Given the description of an element on the screen output the (x, y) to click on. 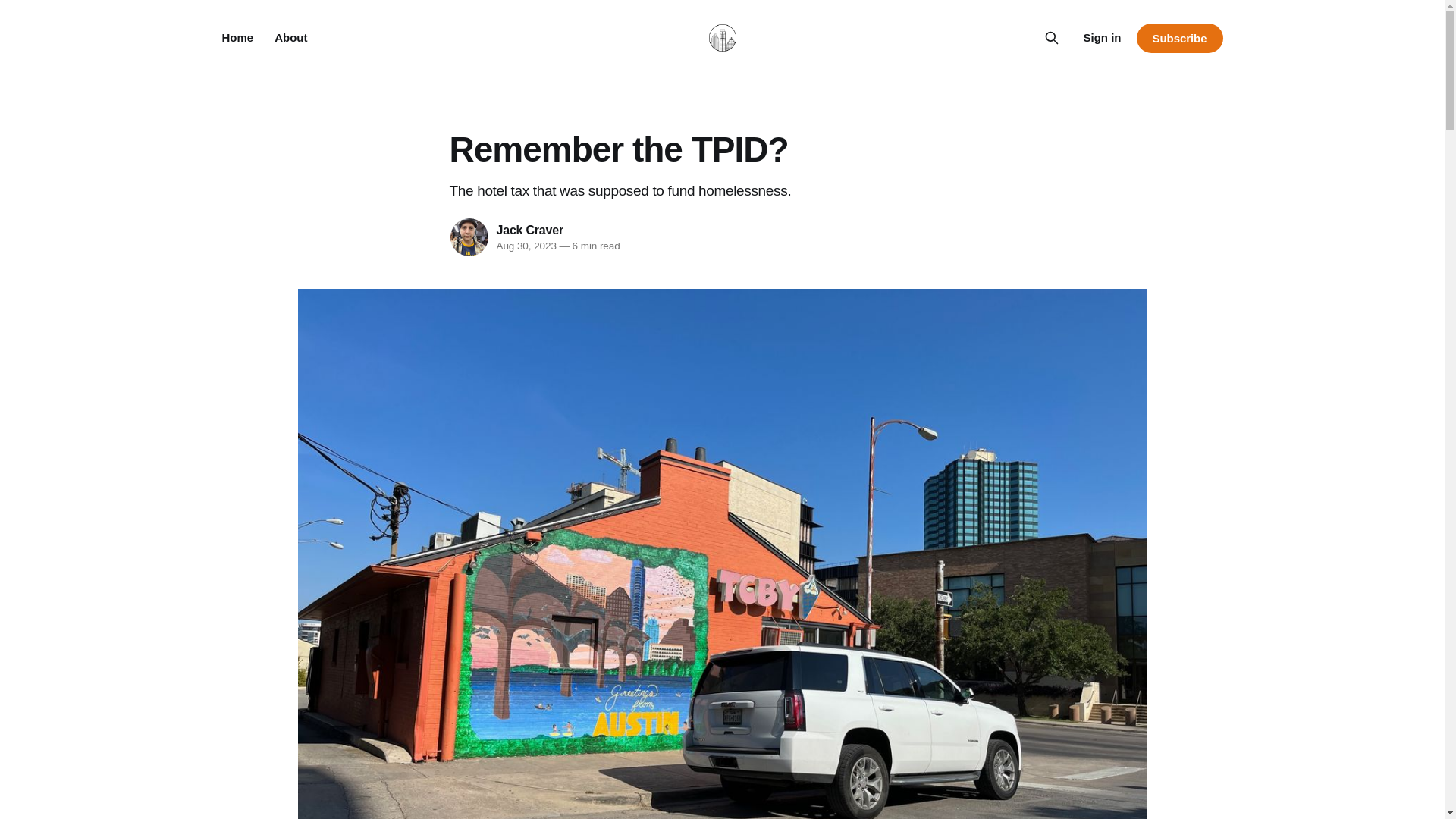
Sign in (1102, 37)
Jack Craver (529, 228)
Subscribe (1179, 37)
About (291, 37)
Home (237, 37)
